Given the description of an element on the screen output the (x, y) to click on. 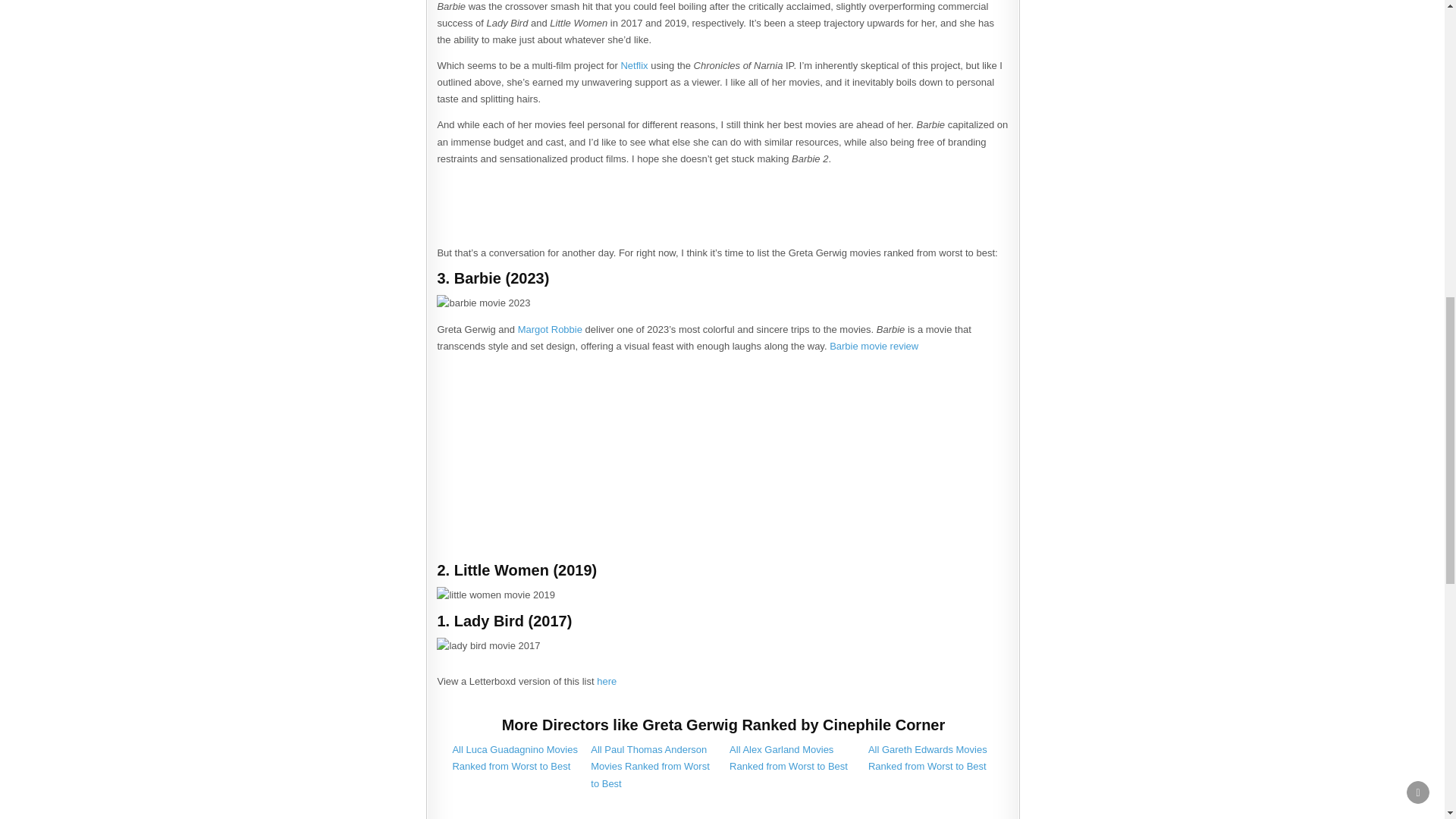
All Gareth Edwards Movies Ranked from Worst to Best (927, 757)
All Alex Garland Movies Ranked from Worst to Best (788, 757)
here (605, 681)
Netflix (633, 65)
Margot Robbie (550, 328)
All Paul Thomas Anderson Movies Ranked from Worst to Best (650, 765)
All Luca Guadagnino Movies Ranked from Worst to Best (514, 757)
Barbie movie review (873, 346)
